Given the description of an element on the screen output the (x, y) to click on. 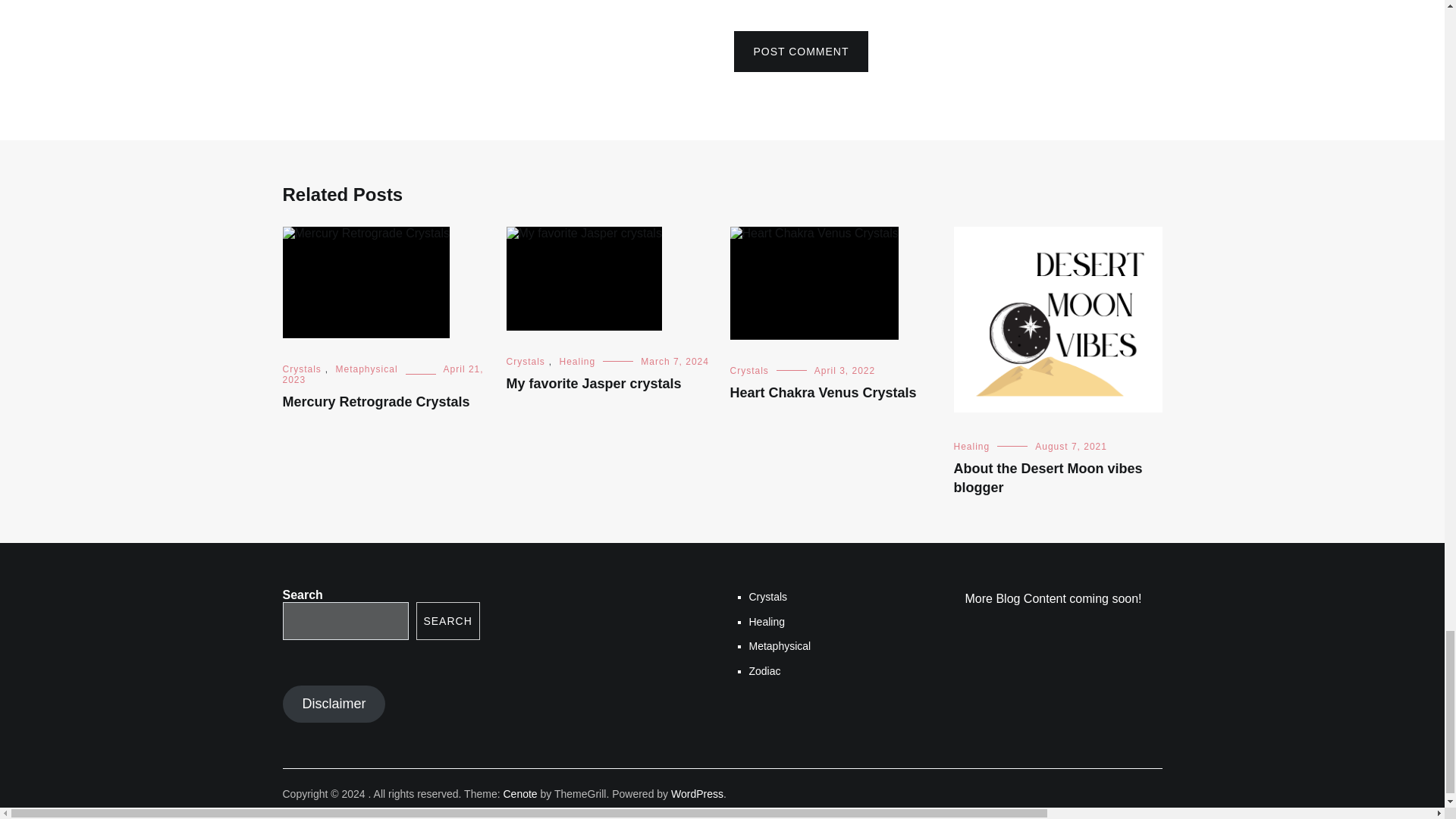
POST COMMENT (800, 51)
